Given the description of an element on the screen output the (x, y) to click on. 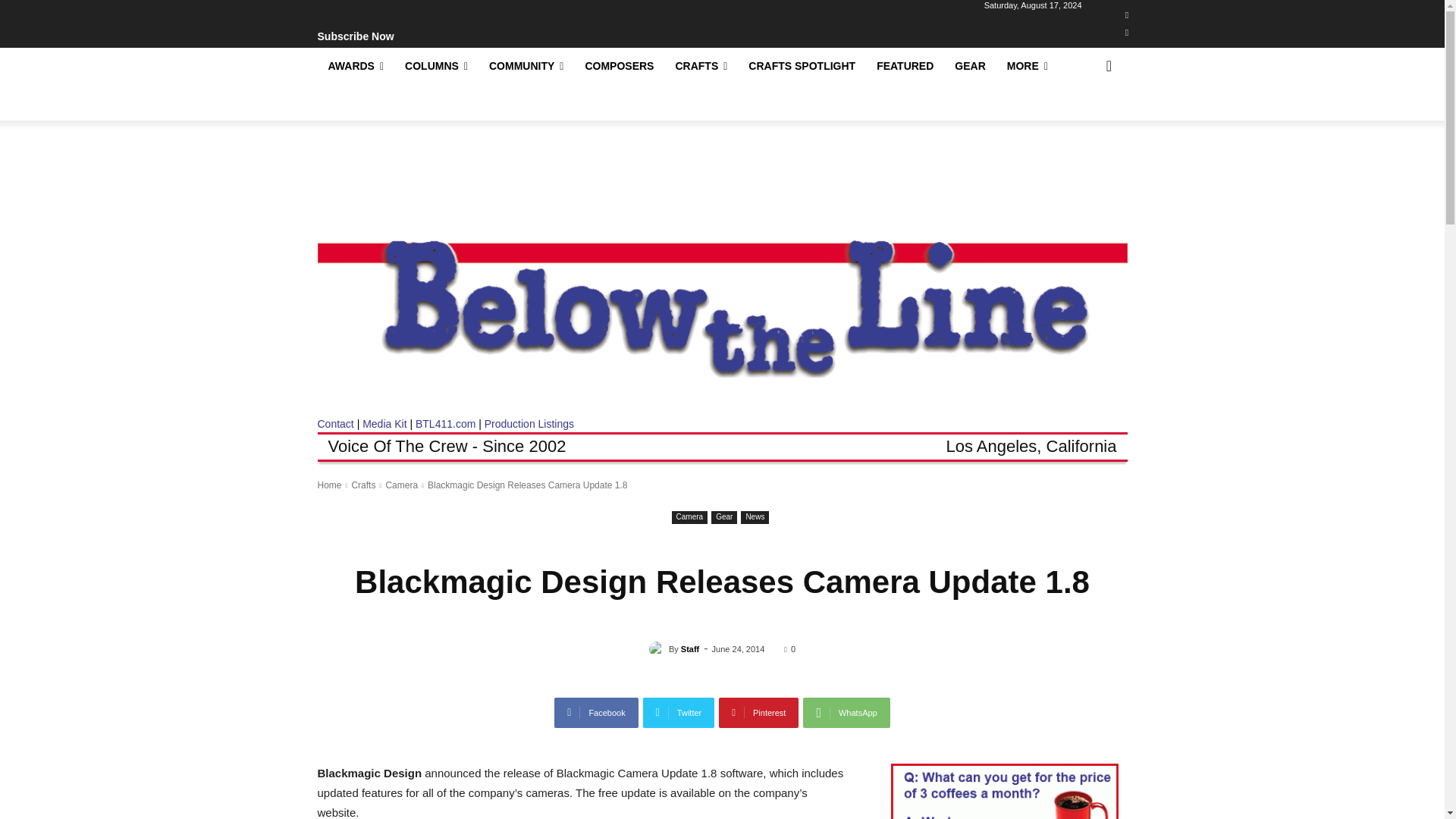
Facebook (595, 712)
Facebook (1126, 15)
View all posts in Crafts (362, 484)
Staff (658, 648)
Twitter (1126, 32)
WhatsApp (846, 712)
Twitter (678, 712)
Pinterest (758, 712)
View all posts in Camera (401, 484)
